Given the description of an element on the screen output the (x, y) to click on. 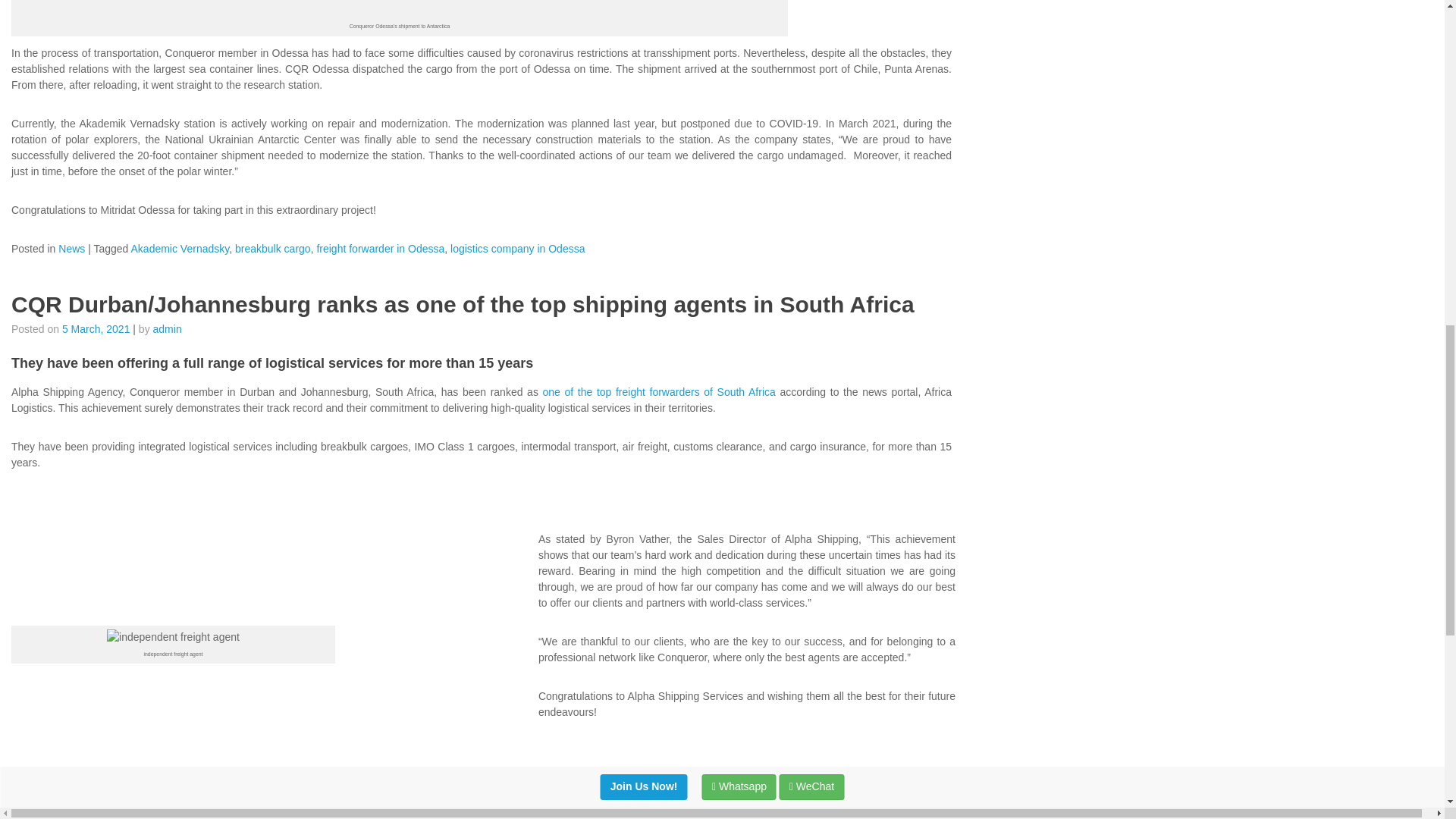
News (71, 248)
5 March, 2021 (96, 328)
logistics company in Odessa (517, 248)
breakbulk cargo (272, 248)
freight forwarder in Odessa (379, 248)
Akademic Vernadsky (180, 248)
Conqueror Odessa- independent freight agent (399, 9)
one of the top freight forwarders of South Africa (659, 391)
admin (167, 328)
